Given the description of an element on the screen output the (x, y) to click on. 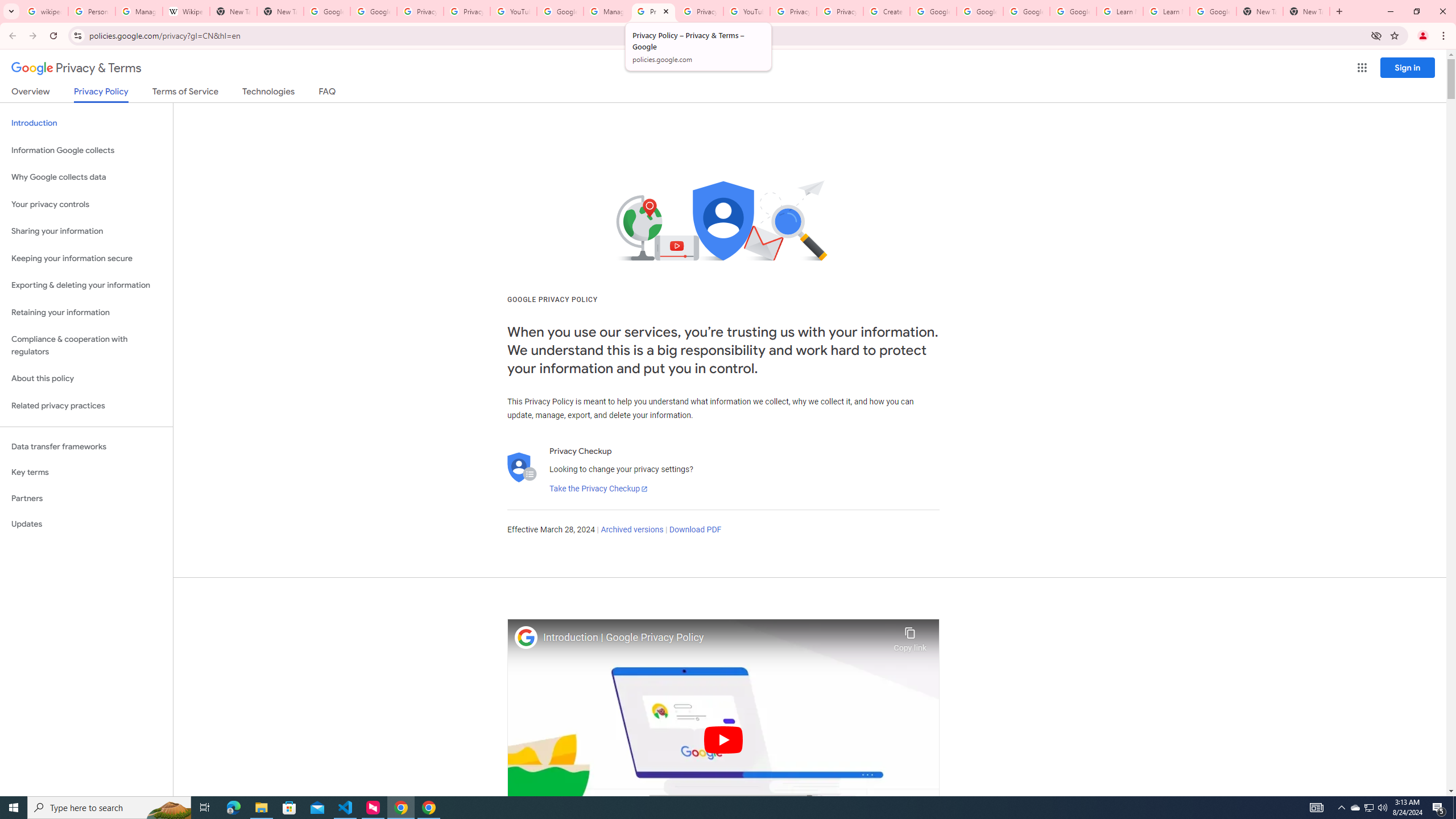
Play (723, 739)
Photo image of Google (526, 636)
Manage your Location History - Google Search Help (138, 11)
